Given the description of an element on the screen output the (x, y) to click on. 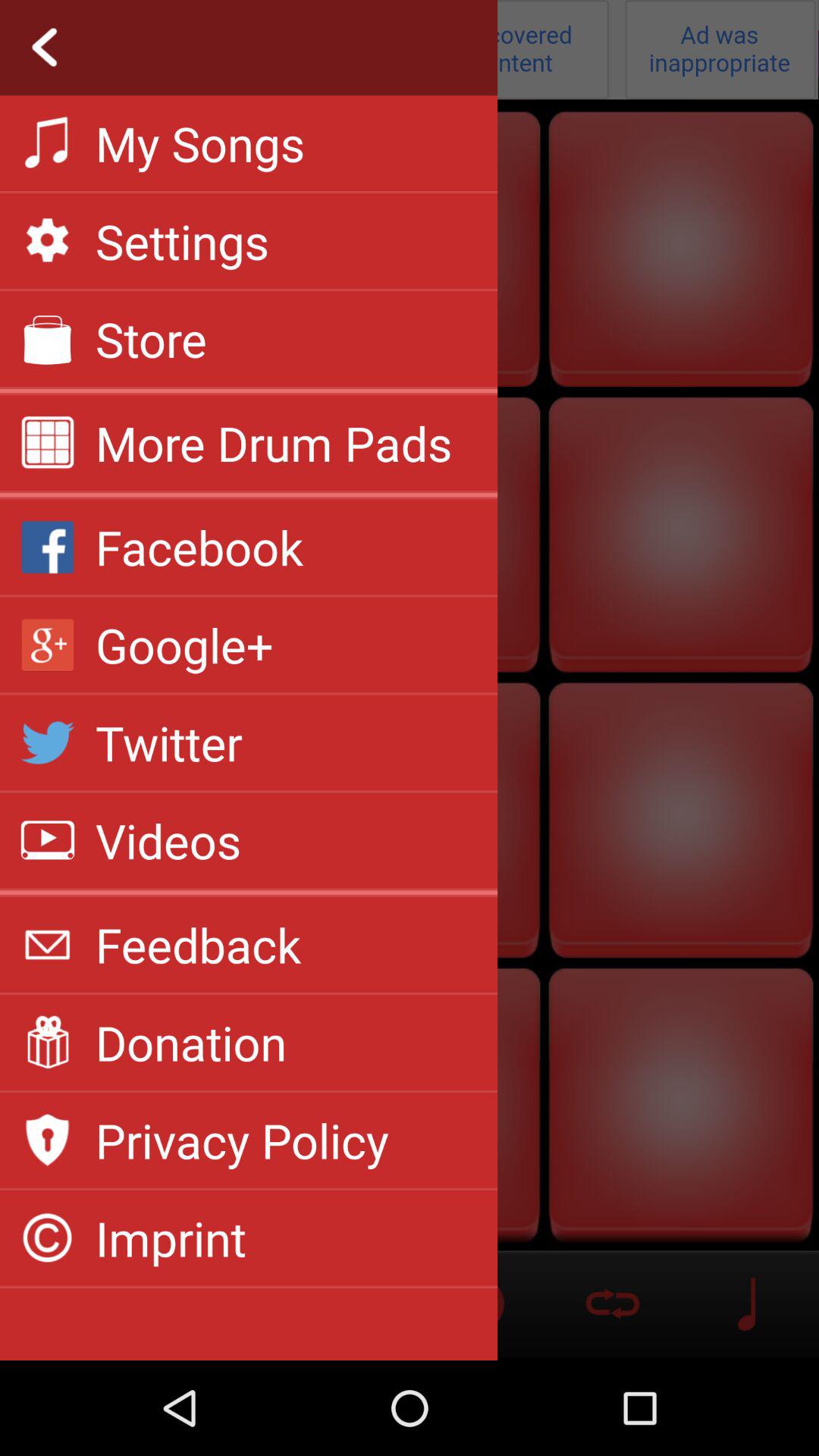
swipe until videos icon (168, 840)
